Given the description of an element on the screen output the (x, y) to click on. 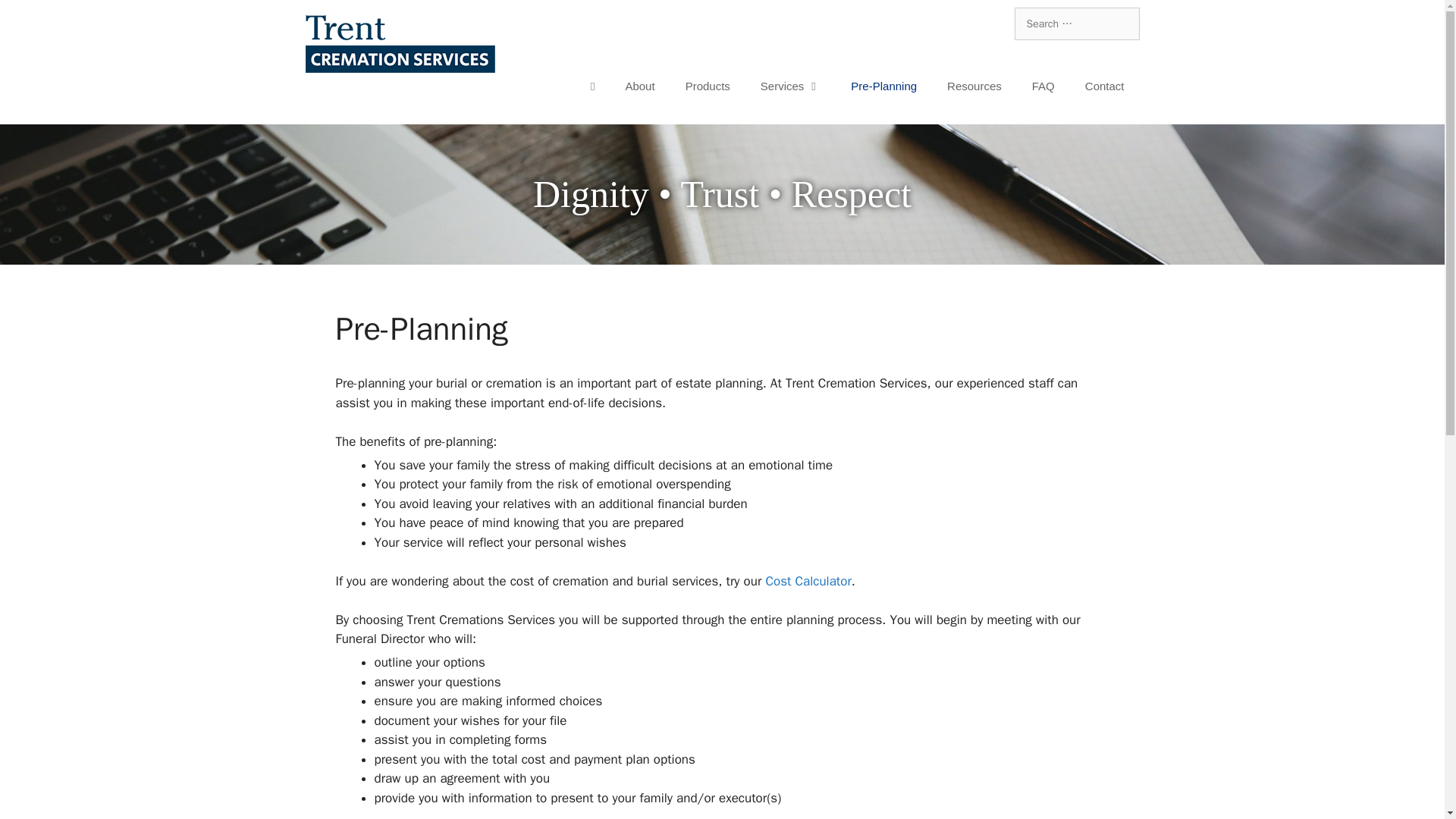
About (639, 85)
Services (790, 85)
Search for: (1077, 23)
Search (32, 16)
Cost Calculator (807, 580)
Resources (973, 85)
Contact (1105, 85)
Products (707, 85)
FAQ (1043, 85)
Pre-Planning (883, 85)
